Given the description of an element on the screen output the (x, y) to click on. 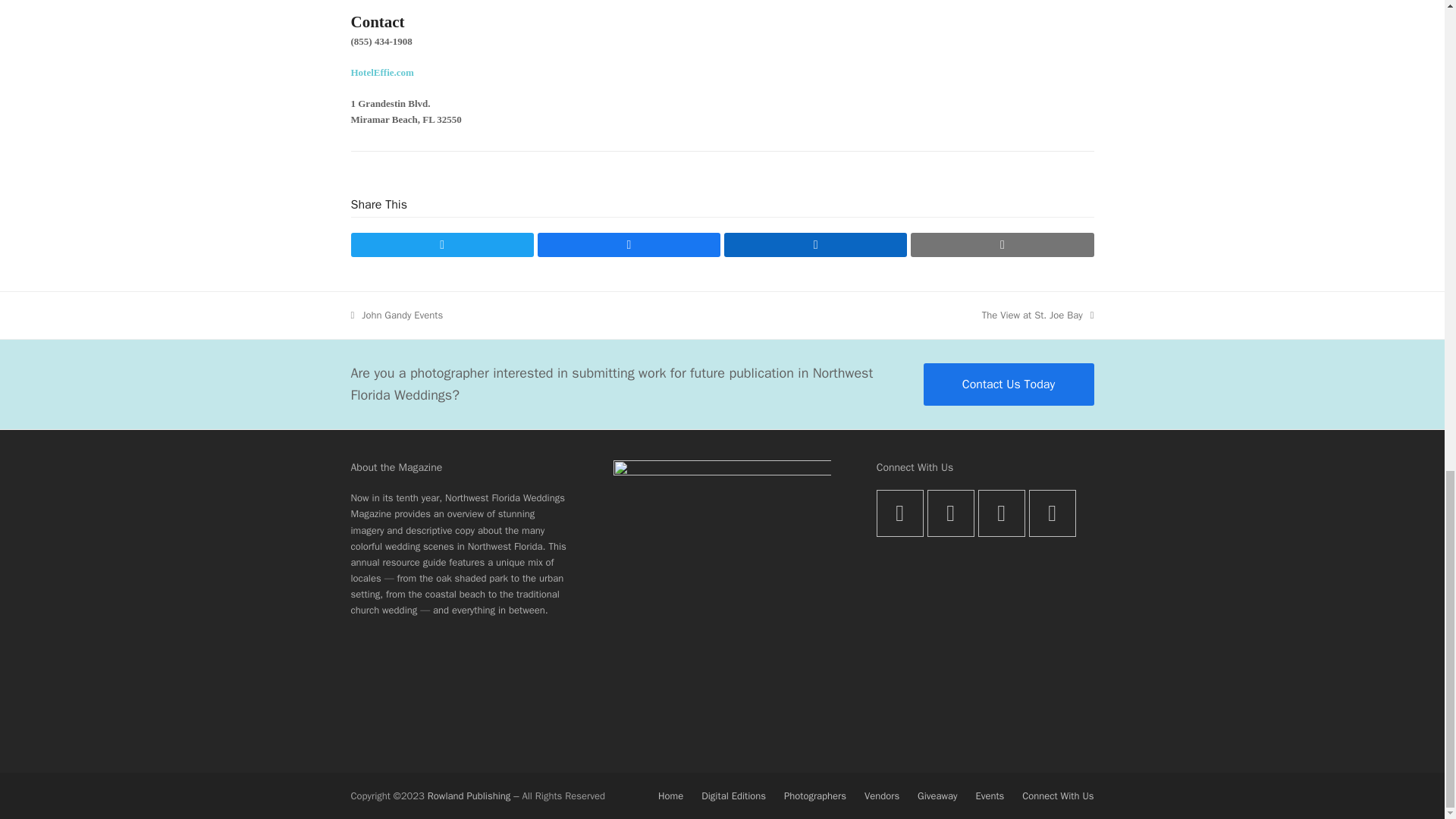
Share on LinkedIn (815, 244)
Share on Twitter (441, 244)
HotelEffie.com (381, 71)
Share on Facebook (628, 244)
Share via Email (1002, 244)
Facebook (1037, 314)
Instagram (950, 513)
Twitter (396, 314)
